Given the description of an element on the screen output the (x, y) to click on. 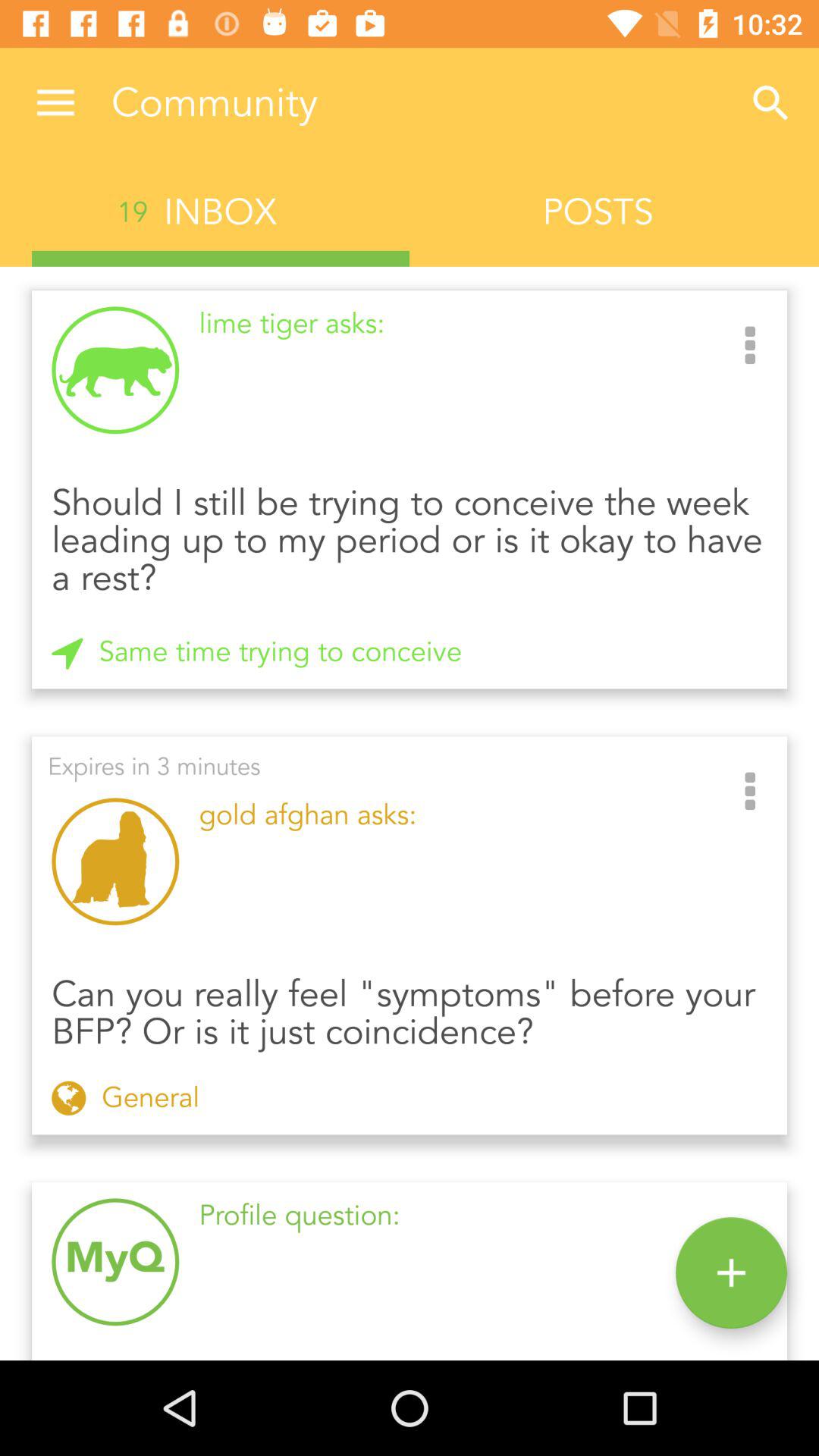
add question (731, 1272)
